Given the description of an element on the screen output the (x, y) to click on. 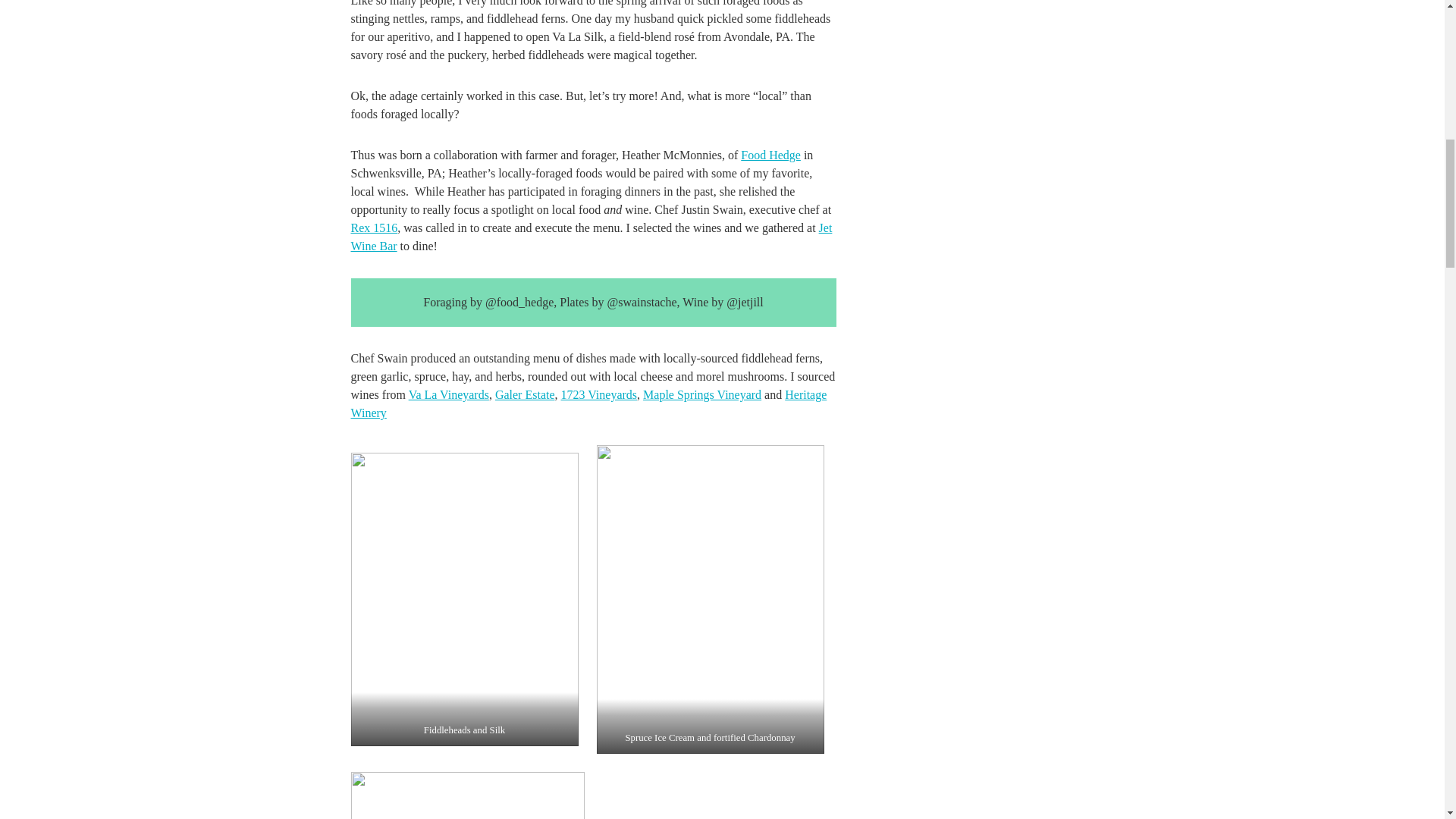
Food Hedge (770, 154)
1723 Vineyards (598, 394)
Heritage Winery (588, 403)
Galer Estate (524, 394)
Maple Springs Vineyard (702, 394)
Va La Vineyards (449, 394)
Jet Wine Bar (590, 236)
Rex 1516 (373, 227)
